Given the description of an element on the screen output the (x, y) to click on. 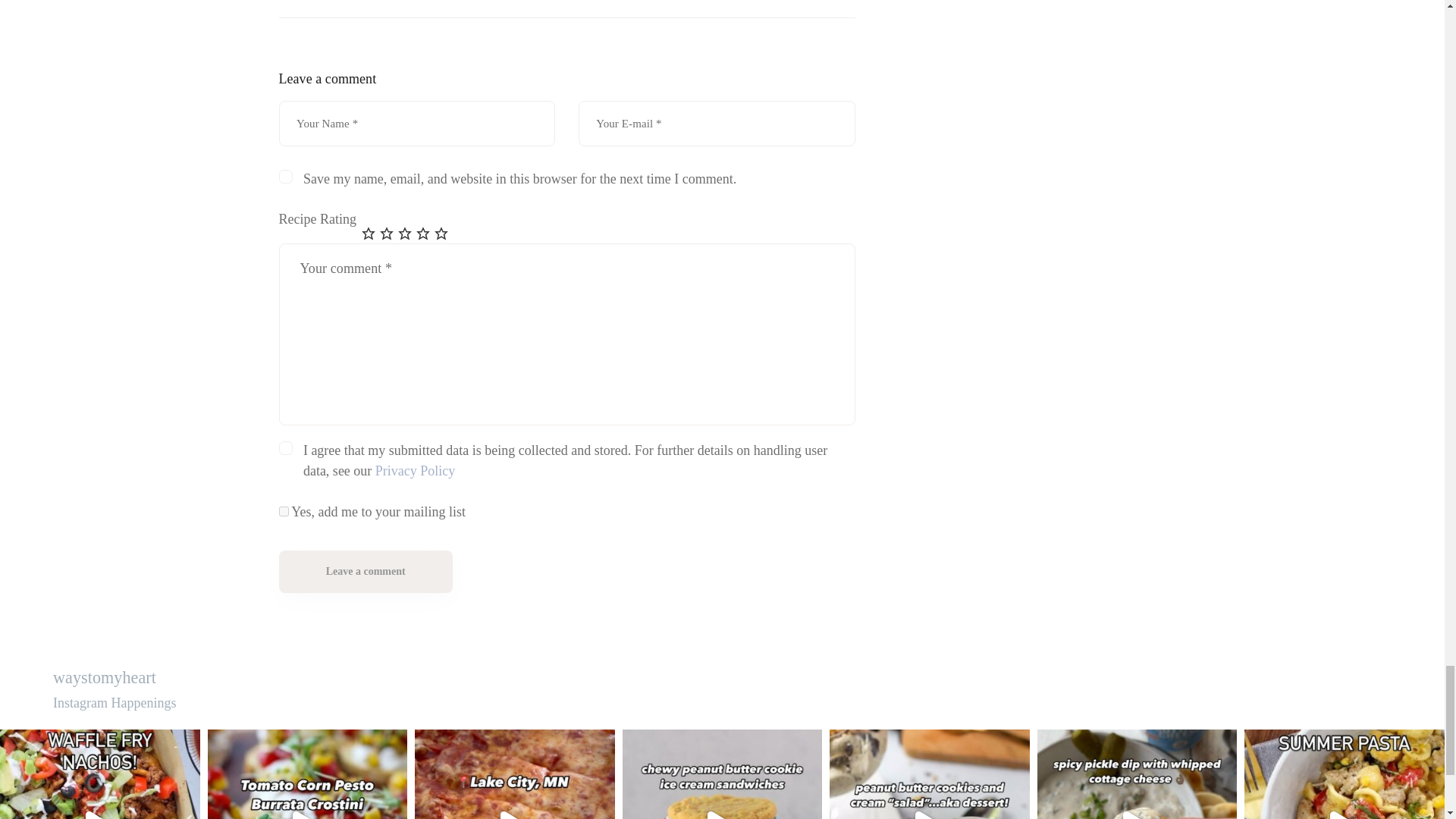
1 (283, 511)
Leave a comment (365, 571)
